Given the description of an element on the screen output the (x, y) to click on. 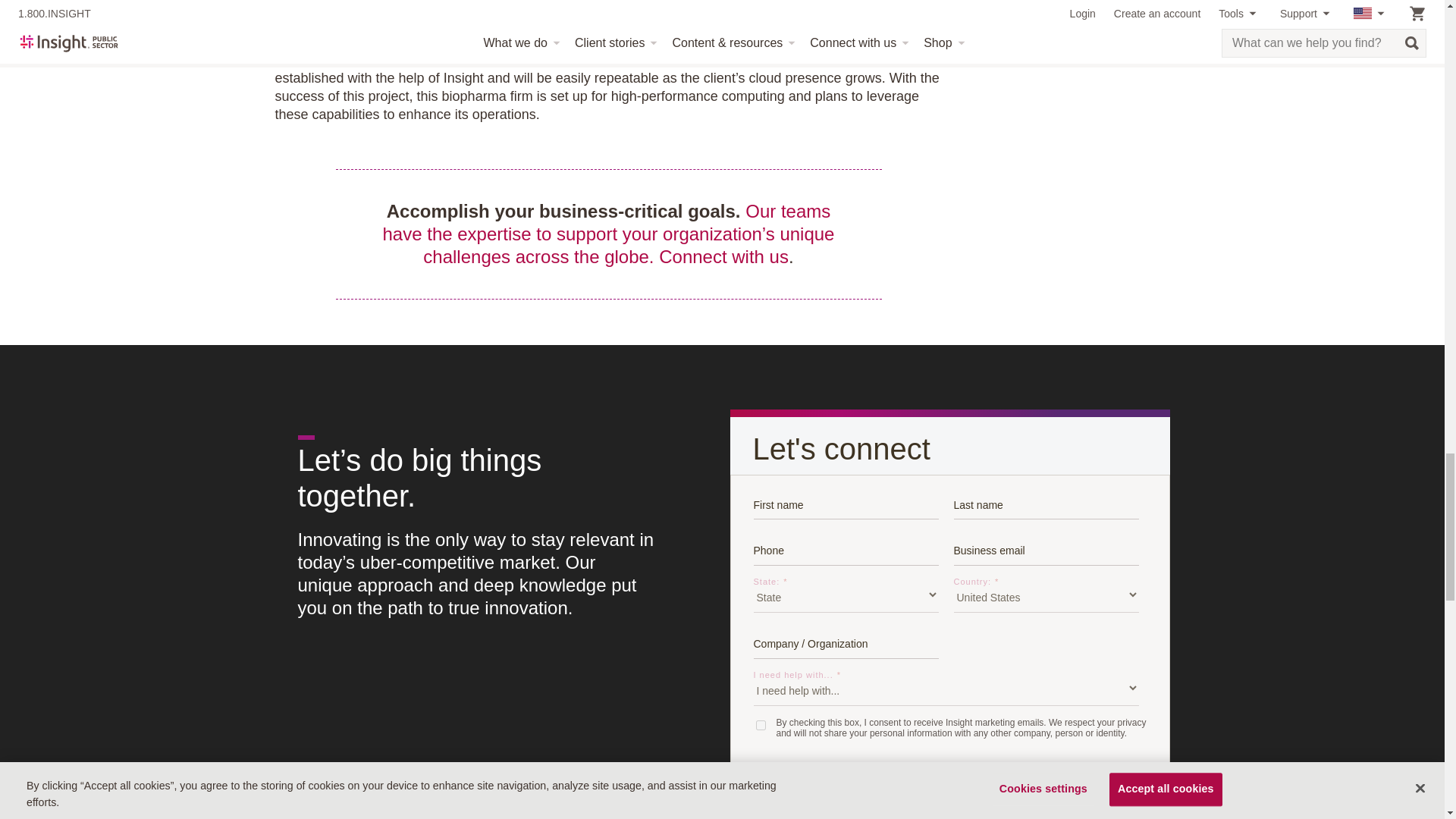
yes (760, 725)
Your response is limited to 40 characters (846, 641)
I need help with... (946, 687)
